Given the description of an element on the screen output the (x, y) to click on. 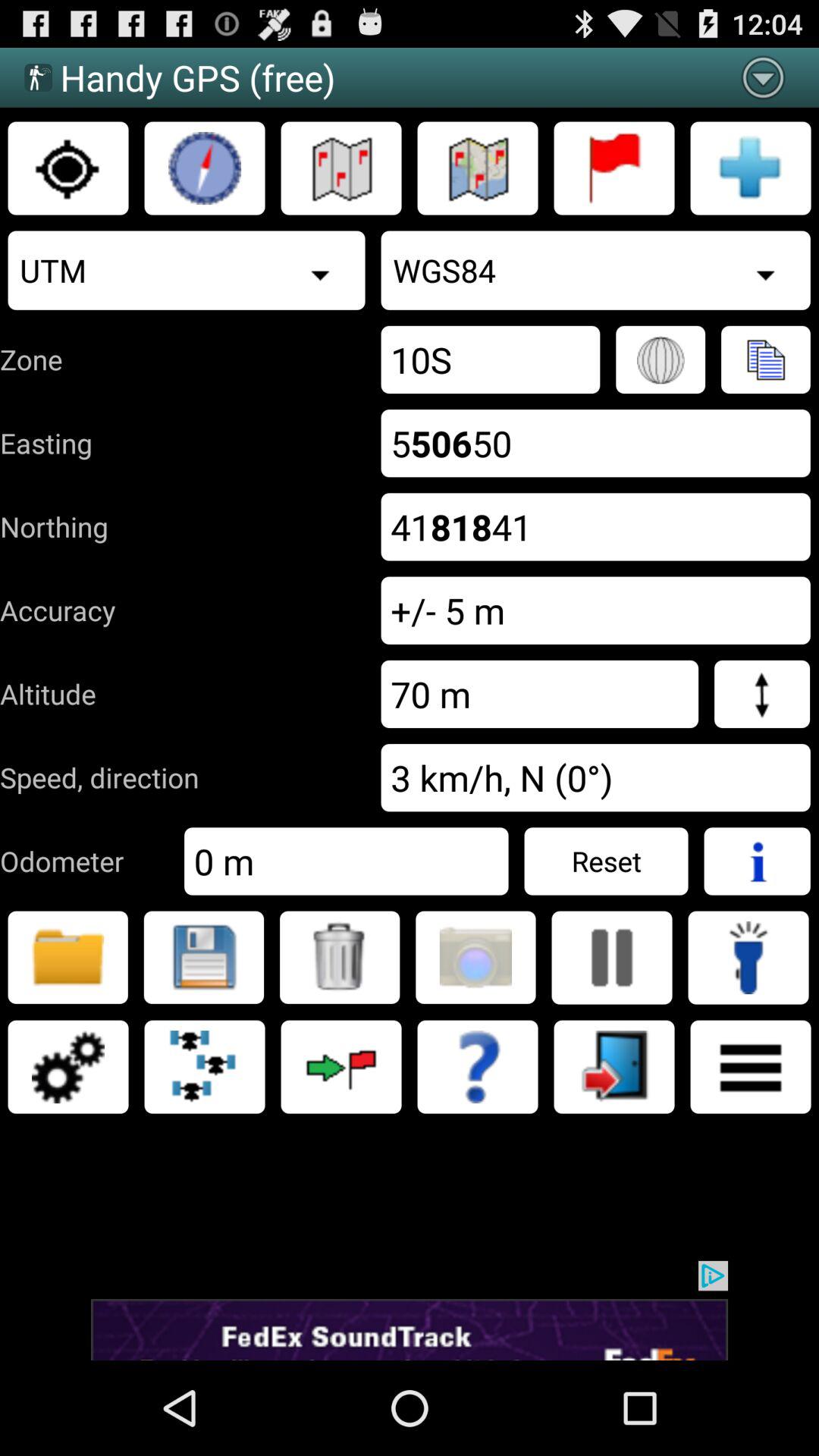
copy (765, 359)
